Given the description of an element on the screen output the (x, y) to click on. 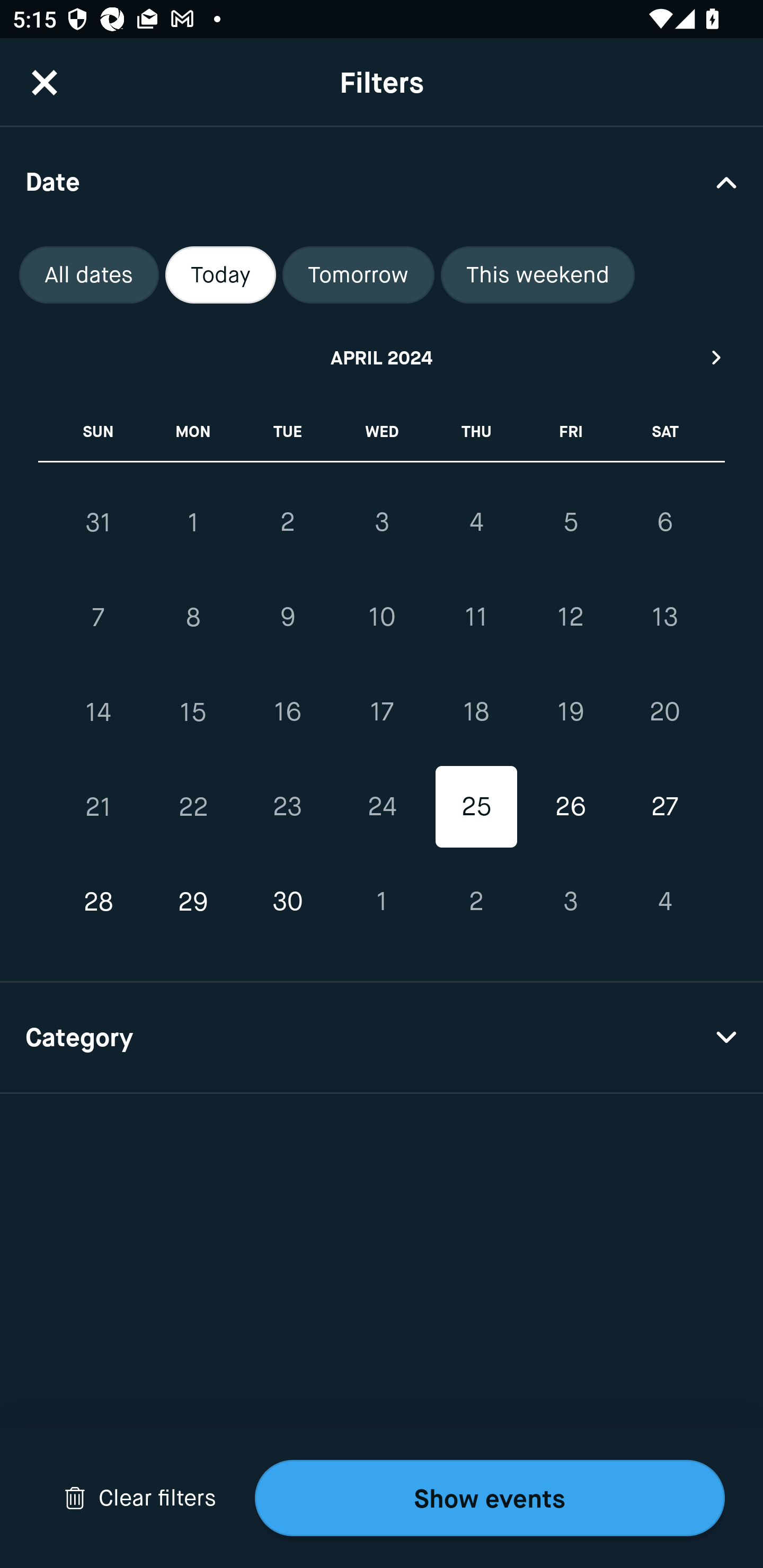
CloseButton (44, 82)
Date Drop Down Arrow (381, 181)
All dates (88, 274)
Today (220, 274)
Tomorrow (358, 274)
This weekend (537, 274)
Next (717, 357)
31 (98, 522)
1 (192, 522)
2 (287, 522)
3 (381, 522)
4 (475, 522)
5 (570, 522)
6 (664, 522)
7 (98, 617)
8 (192, 617)
9 (287, 617)
10 (381, 617)
11 (475, 617)
12 (570, 617)
13 (664, 617)
14 (98, 711)
15 (192, 711)
16 (287, 711)
17 (381, 711)
18 (475, 711)
19 (570, 711)
20 (664, 711)
21 (98, 806)
22 (192, 806)
23 (287, 806)
24 (381, 806)
25 (475, 806)
26 (570, 806)
27 (664, 806)
28 (98, 901)
29 (192, 901)
30 (287, 901)
1 (381, 901)
2 (475, 901)
3 (570, 901)
4 (664, 901)
Category Drop Down Arrow (381, 1038)
Drop Down Arrow Clear filters (139, 1497)
Show events (489, 1497)
